Given the description of an element on the screen output the (x, y) to click on. 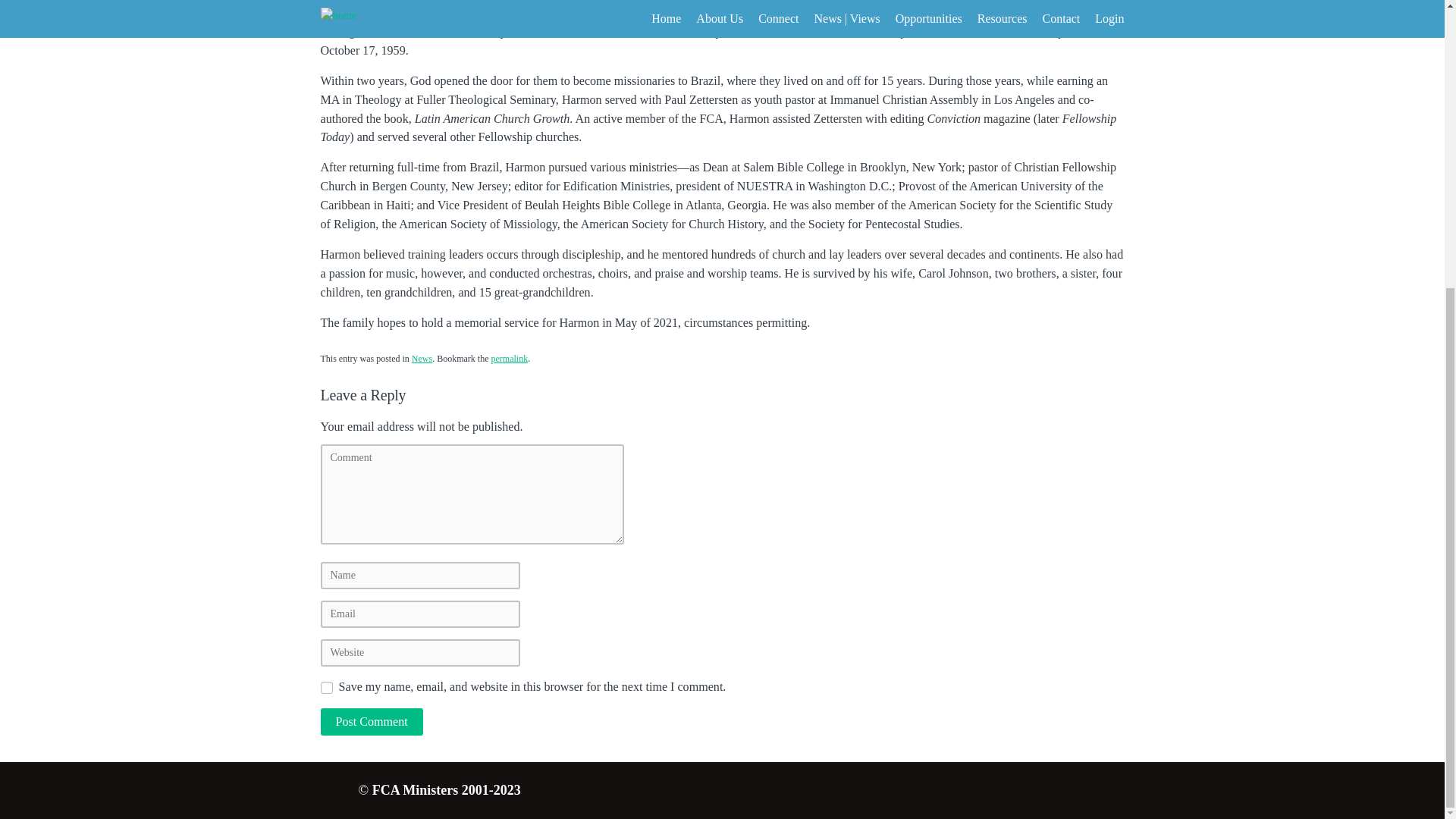
Post Comment (371, 721)
yes (325, 687)
Permalink to The Legacy and Impact of Harmon Johnson (508, 357)
